Given the description of an element on the screen output the (x, y) to click on. 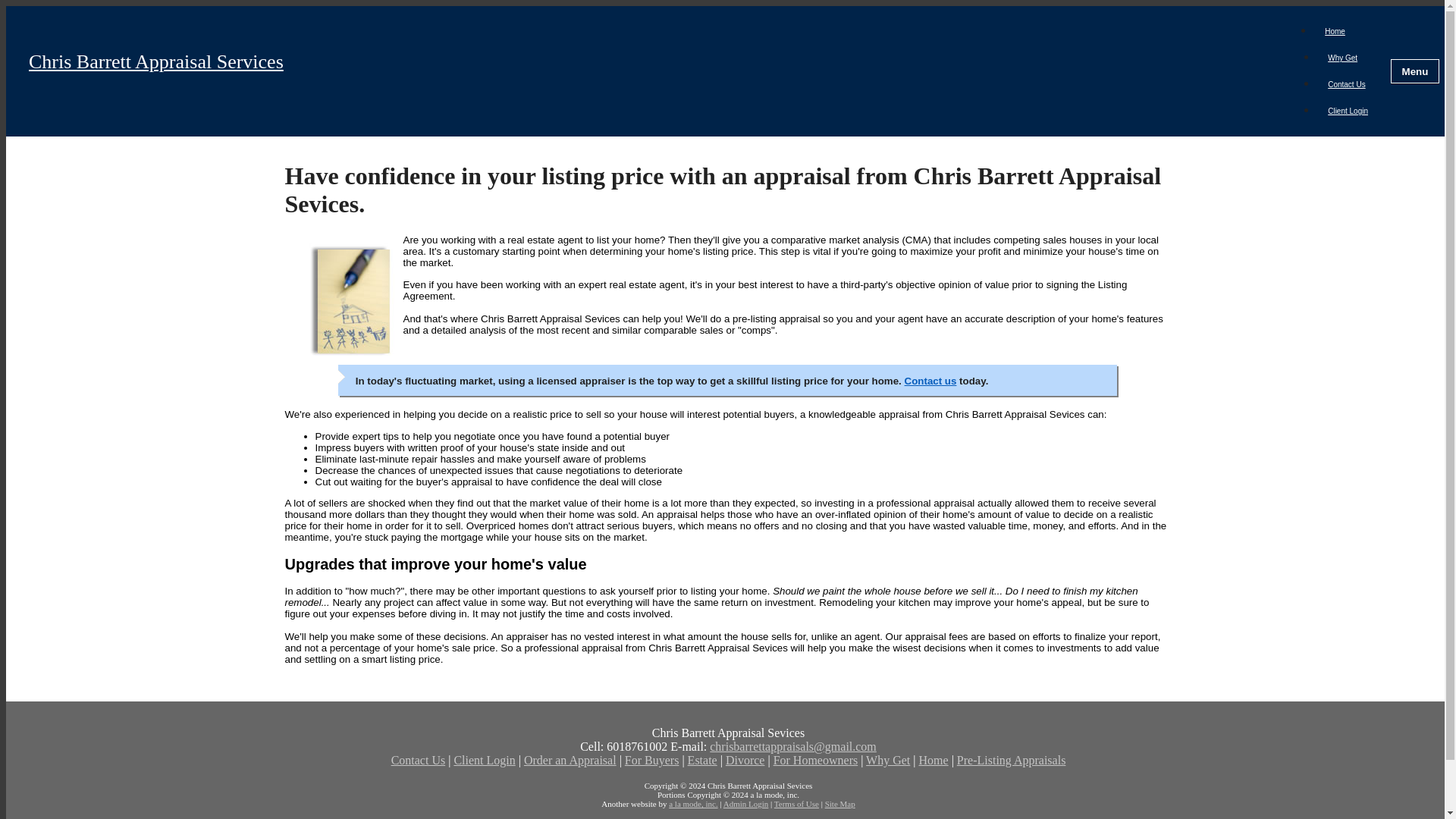
Home (933, 759)
Estate (702, 759)
Menu (1414, 70)
Why Get (1342, 57)
Admin Login (745, 803)
For Homeowners (816, 759)
Client Login (1347, 110)
For Buyers (651, 759)
Contact Us (1345, 83)
Contact us (930, 380)
Terms of Use (796, 803)
Site Map (840, 803)
Chris Barrett Appraisal Services (655, 71)
Order an Appraisal (569, 759)
Home (1334, 31)
